Given the description of an element on the screen output the (x, y) to click on. 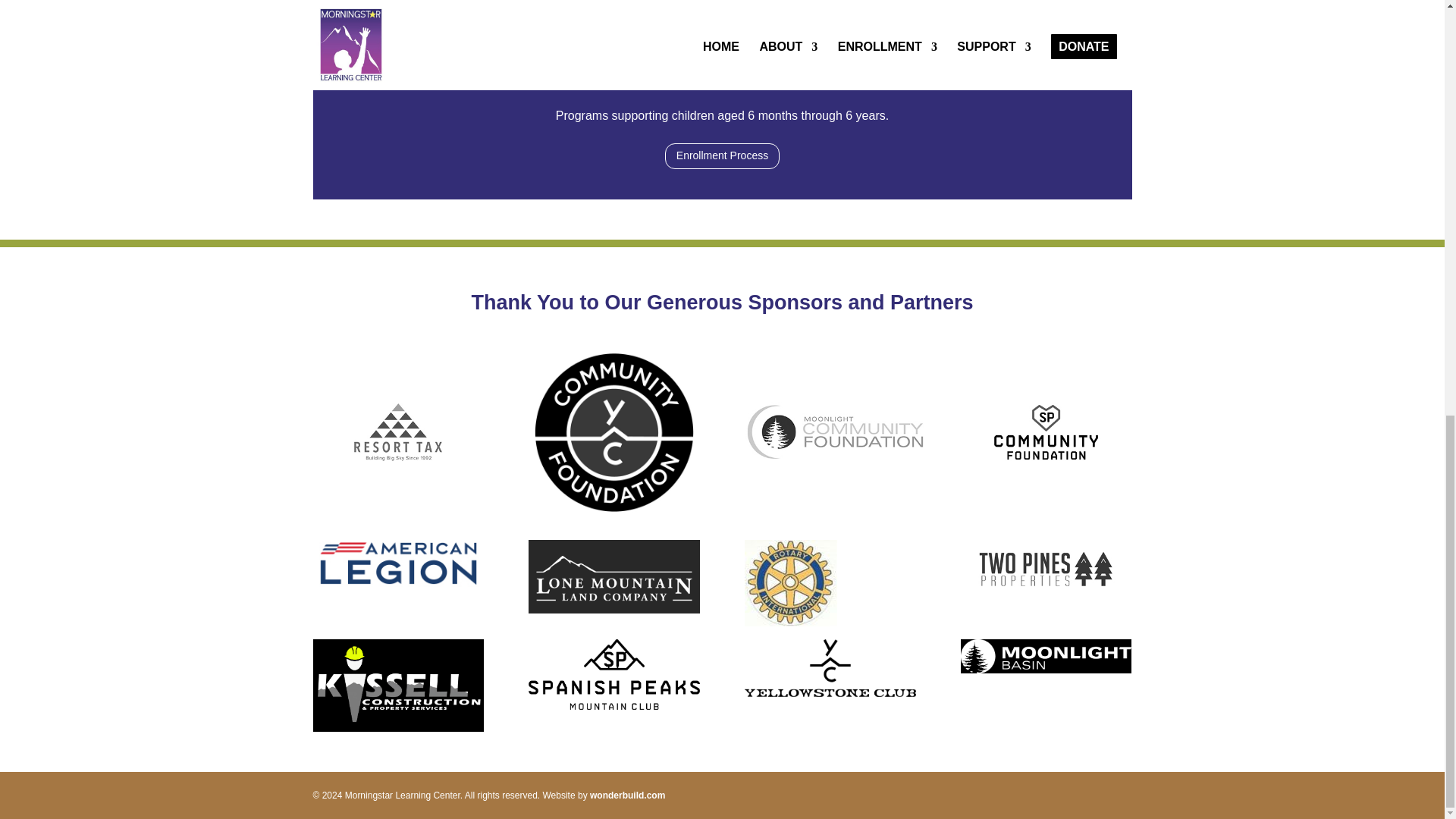
Spanish Peaks Black (613, 674)
Enrollment Process (721, 155)
Moonlight Community Foundation (834, 432)
lml (613, 576)
Spanish Peaks Community Foundation (1045, 432)
Resort Tax (398, 432)
Two Pines Properties (1045, 568)
rotary (790, 582)
YC Black (829, 667)
American Legion (398, 563)
Kissell7.pdf (398, 685)
